Given the description of an element on the screen output the (x, y) to click on. 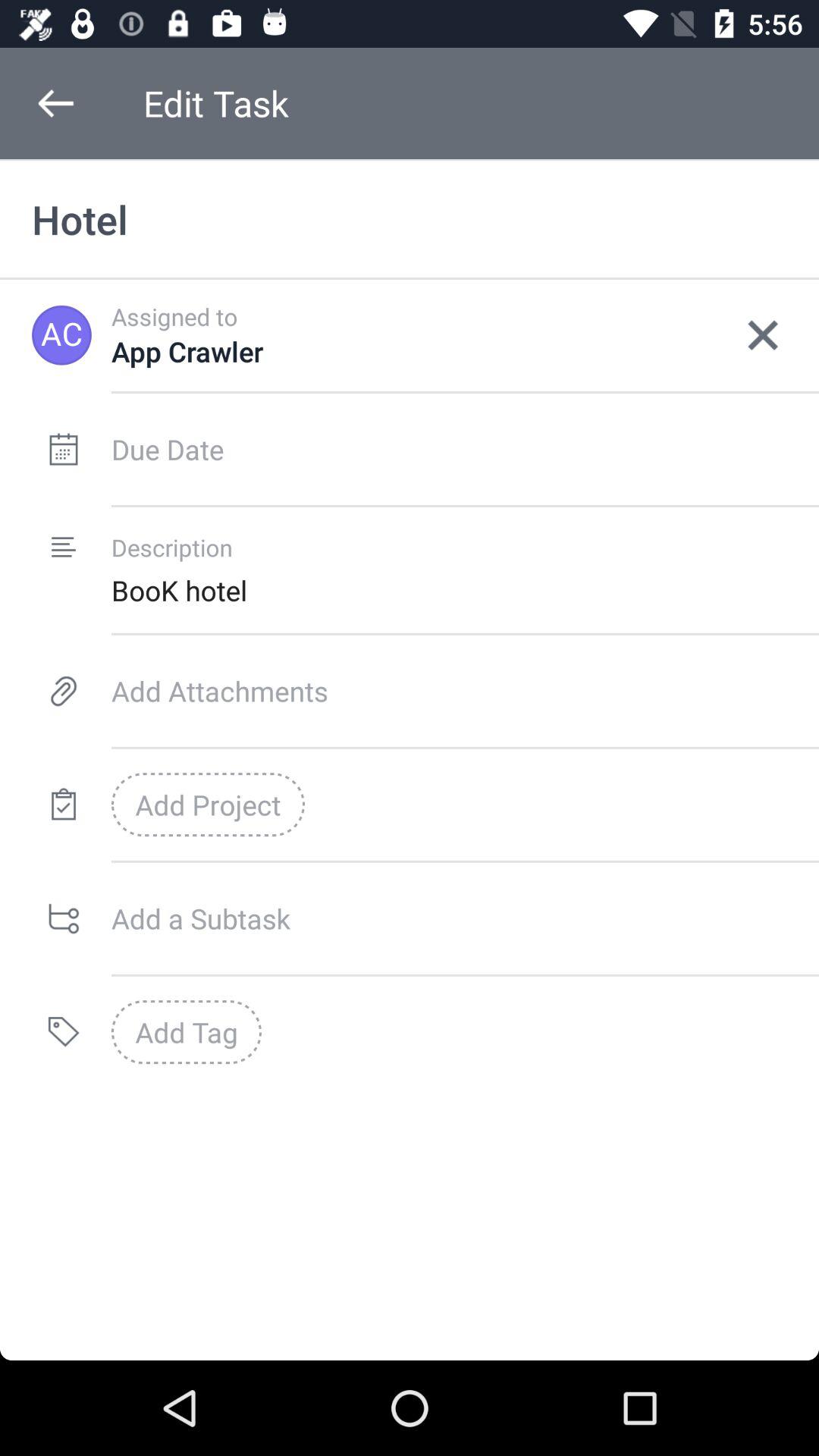
in box add a subtask enter the subtask text (465, 918)
